Given the description of an element on the screen output the (x, y) to click on. 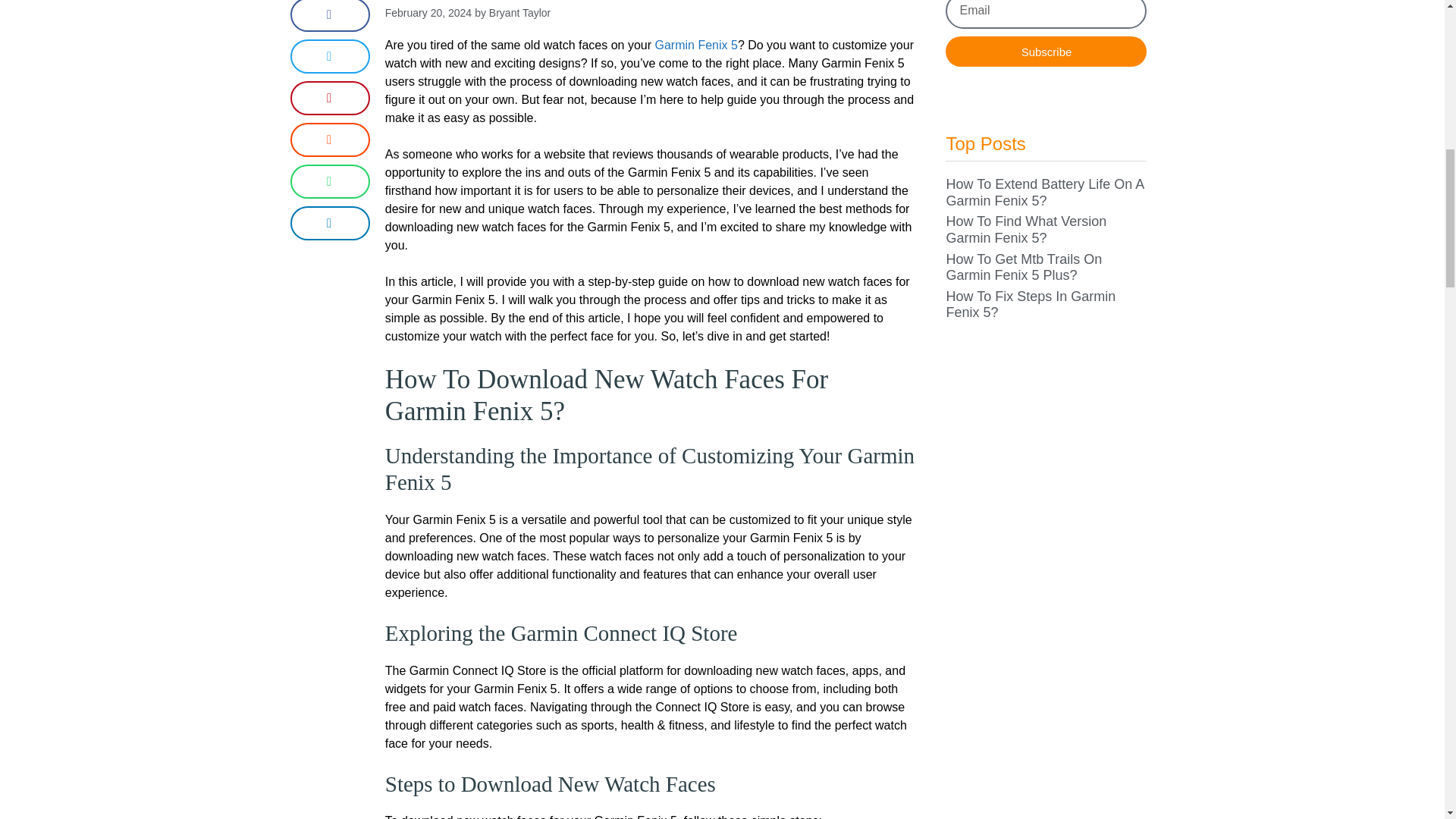
by Bryant Taylor (512, 12)
Garmin Fenix 5 (696, 44)
Subscribe (1045, 51)
How To Get Mtb Trails On Garmin Fenix 5 Plus? (1023, 267)
How To Find What Version Garmin Fenix 5? (1025, 229)
How To Extend Battery Life On A Garmin Fenix 5? (1043, 192)
How To Fix Steps In Garmin Fenix 5? (1029, 305)
